Given the description of an element on the screen output the (x, y) to click on. 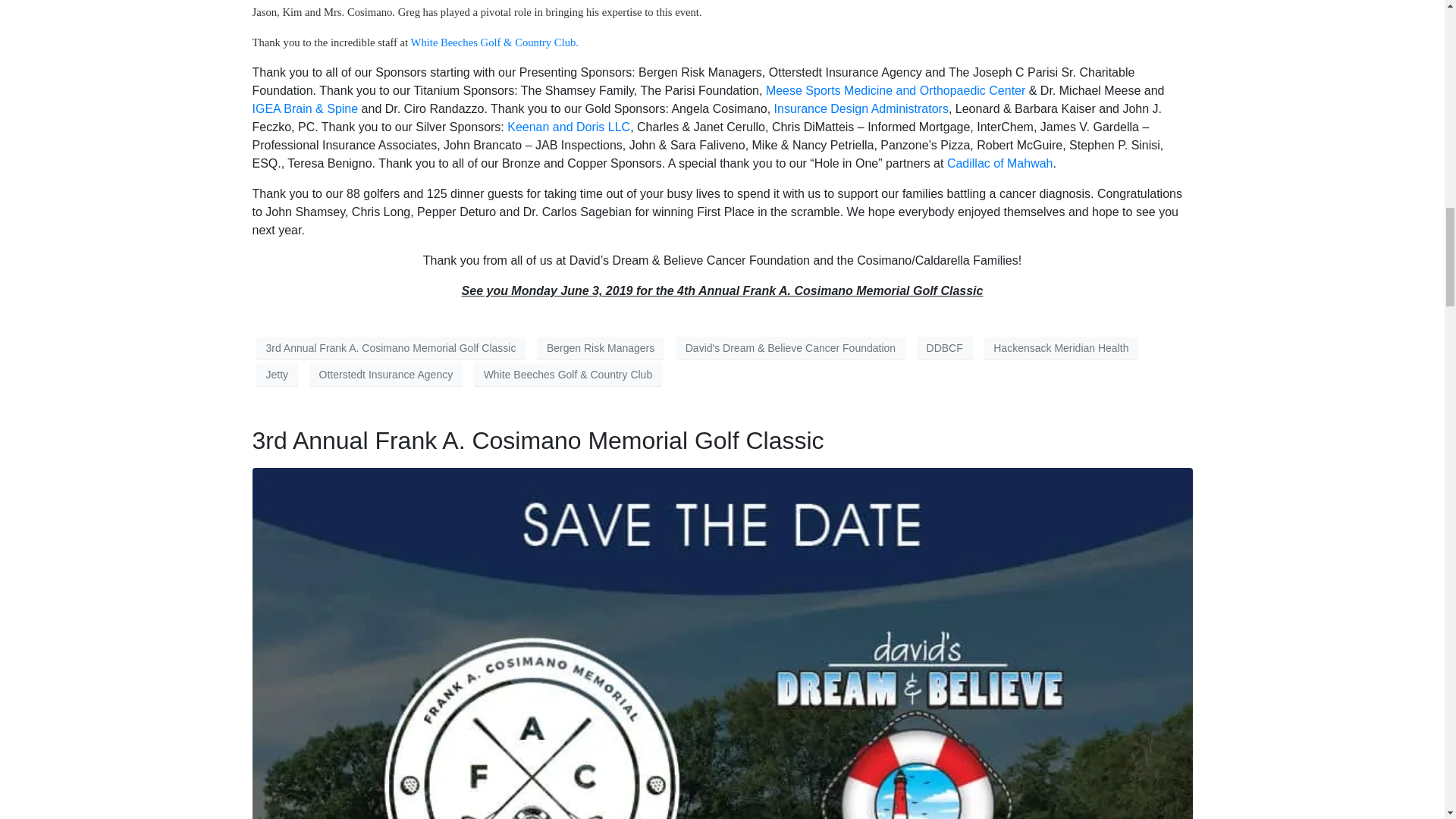
3rd Annual Frank A. Cosimano Memorial Golf Classic (537, 440)
